Given the description of an element on the screen output the (x, y) to click on. 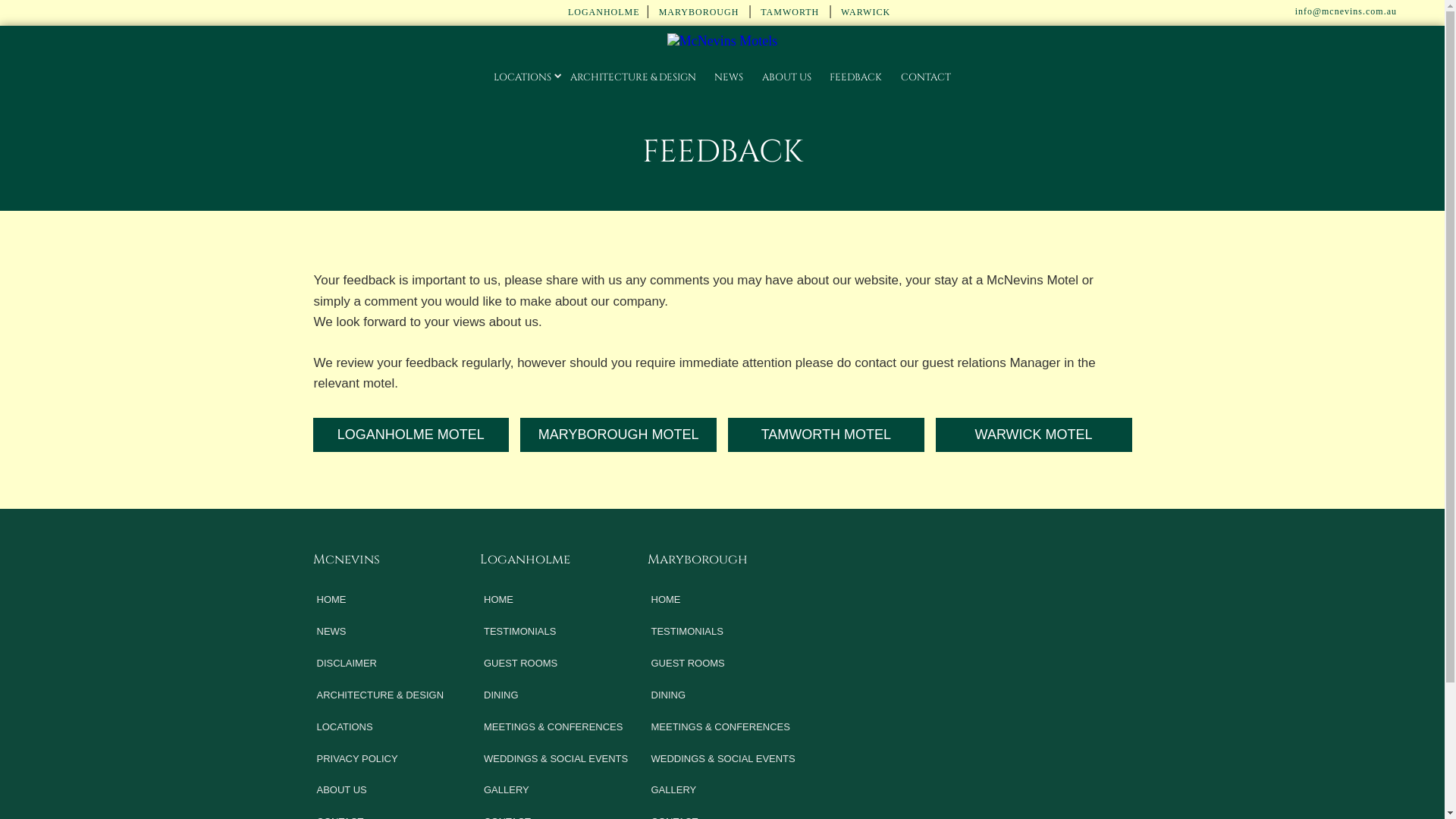
GALLERY Element type: text (563, 790)
NEWS Element type: text (728, 77)
DISCLAIMER Element type: text (381, 663)
LOGANHOLME MOTEL Element type: text (410, 434)
WEDDINGS & SOCIAL EVENTS Element type: text (563, 759)
MEETINGS & CONFERENCES Element type: text (730, 727)
ARCHITECTURE & DESIGN Element type: text (381, 695)
ARCHITECTURE & DESIGN Element type: text (632, 77)
GUEST ROOMS Element type: text (730, 663)
LOCATIONS Element type: text (381, 727)
WARWICK MOTEL Element type: text (1033, 434)
MARYBOROUGH MOTEL Element type: text (618, 434)
  TAMWORTH Element type: text (788, 11)
WEDDINGS & SOCIAL EVENTS Element type: text (730, 759)
GUEST ROOMS Element type: text (563, 663)
DINING Element type: text (563, 695)
HOME Element type: text (381, 599)
HOME Element type: text (730, 599)
HOME Element type: text (563, 599)
GALLERY Element type: text (730, 790)
ABOUT US Element type: text (381, 790)
  info@mcnevins.com.au Element type: text (1342, 11)
TESTIMONIALS Element type: text (730, 631)
  MARYBOROUGH Element type: text (697, 11)
TAMWORTH MOTEL Element type: text (826, 434)
PRIVACY POLICY Element type: text (381, 759)
  LOGANHOLME Element type: text (600, 11)
ABOUT US Element type: text (786, 77)
  WARWICK Element type: text (862, 11)
TESTIMONIALS Element type: text (563, 631)
CONTACT Element type: text (925, 77)
FEEDBACK Element type: text (855, 77)
LOCATIONS Element type: text (522, 77)
NEWS Element type: text (381, 631)
DINING Element type: text (730, 695)
MEETINGS & CONFERENCES Element type: text (563, 727)
